Given the description of an element on the screen output the (x, y) to click on. 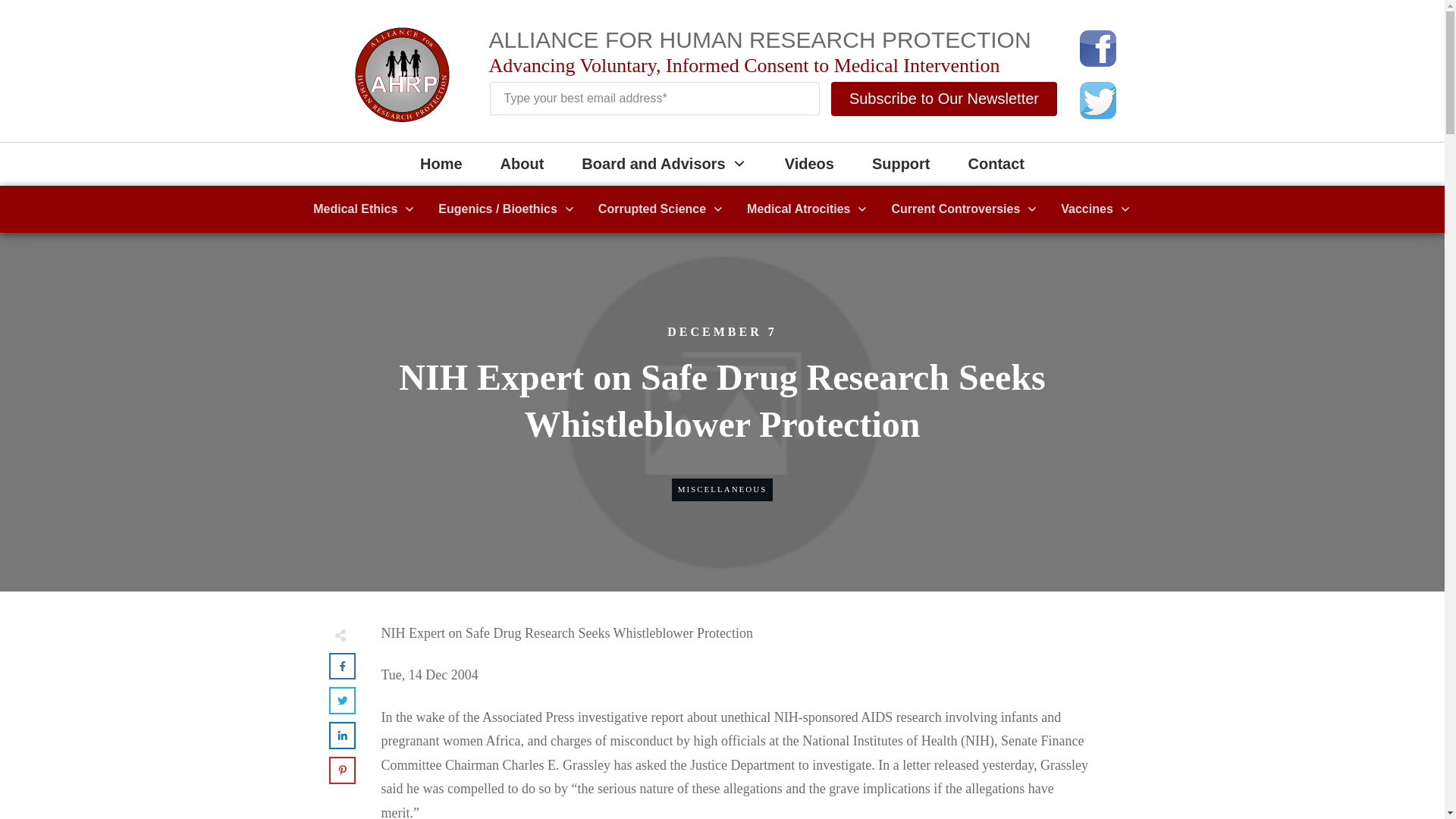
Support (901, 163)
Home (441, 163)
Corrupted Science (660, 209)
Subscribe to Our Newsletter (944, 98)
Medical Ethics (363, 209)
Medical Atrocities (806, 209)
Miscellaneous (722, 488)
Videos (809, 163)
twitter-logo (1098, 99)
Medical Ethics (363, 209)
